Given the description of an element on the screen output the (x, y) to click on. 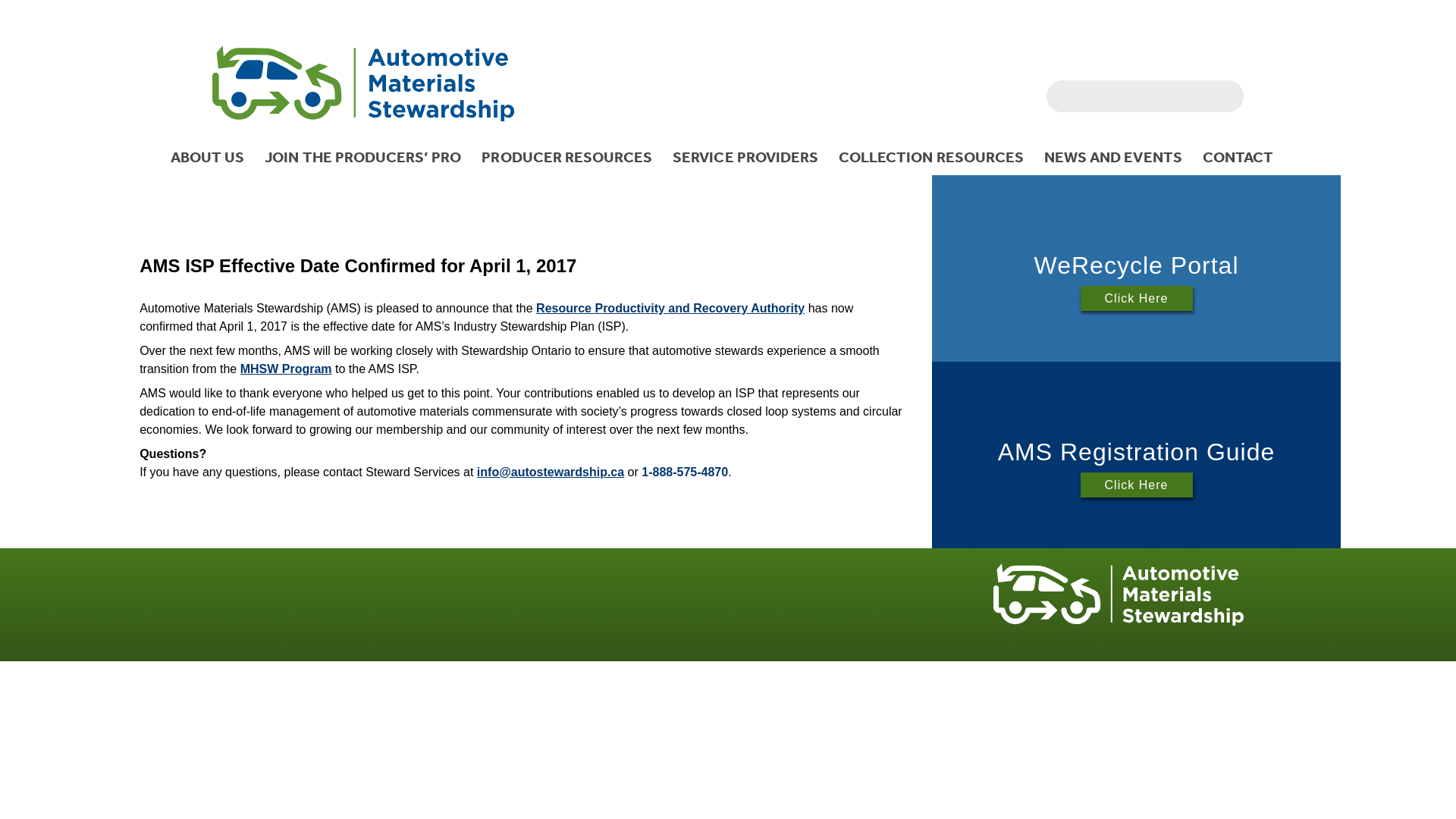
Click Here Element type: text (1136, 297)
COLLECTION RESOURCES Element type: text (936, 156)
info@autostewardship.ca Element type: text (550, 471)
Click to return to homepage Element type: hover (1118, 621)
MHSW Program Element type: text (286, 368)
Click Here Element type: text (1136, 484)
ABOUT US Element type: text (213, 156)
CONTACT Element type: text (1243, 156)
PRODUCER RESOURCES Element type: text (572, 156)
1-888-575-4870 Element type: text (684, 471)
Resource Productivity and Recovery Authority Element type: text (670, 307)
NEWS AND EVENTS Element type: text (1118, 156)
SERVICE PROVIDERS Element type: text (750, 156)
